Given the description of an element on the screen output the (x, y) to click on. 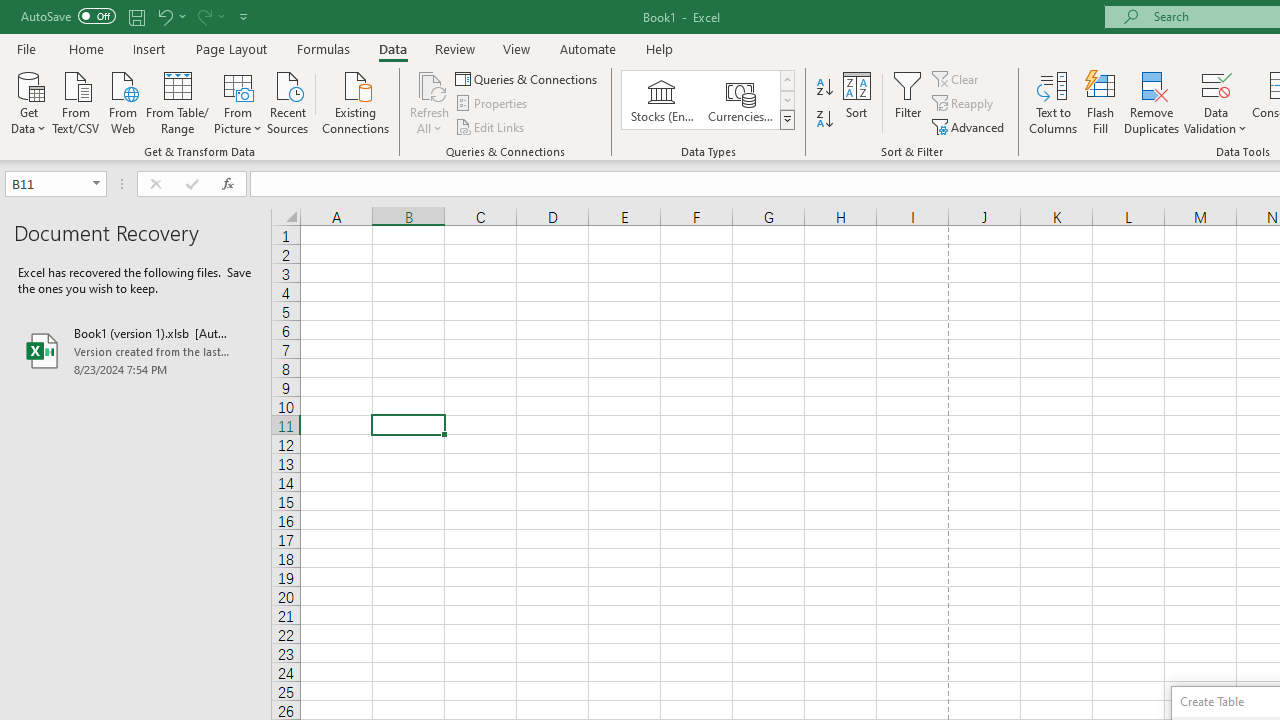
Get Data (28, 101)
Remove Duplicates (1151, 102)
Currencies (English) (740, 100)
Properties (492, 103)
AutomationID: ConvertToLinkedEntity (708, 99)
Sort A to Z (824, 87)
Filter (908, 102)
From Web (122, 101)
